Given the description of an element on the screen output the (x, y) to click on. 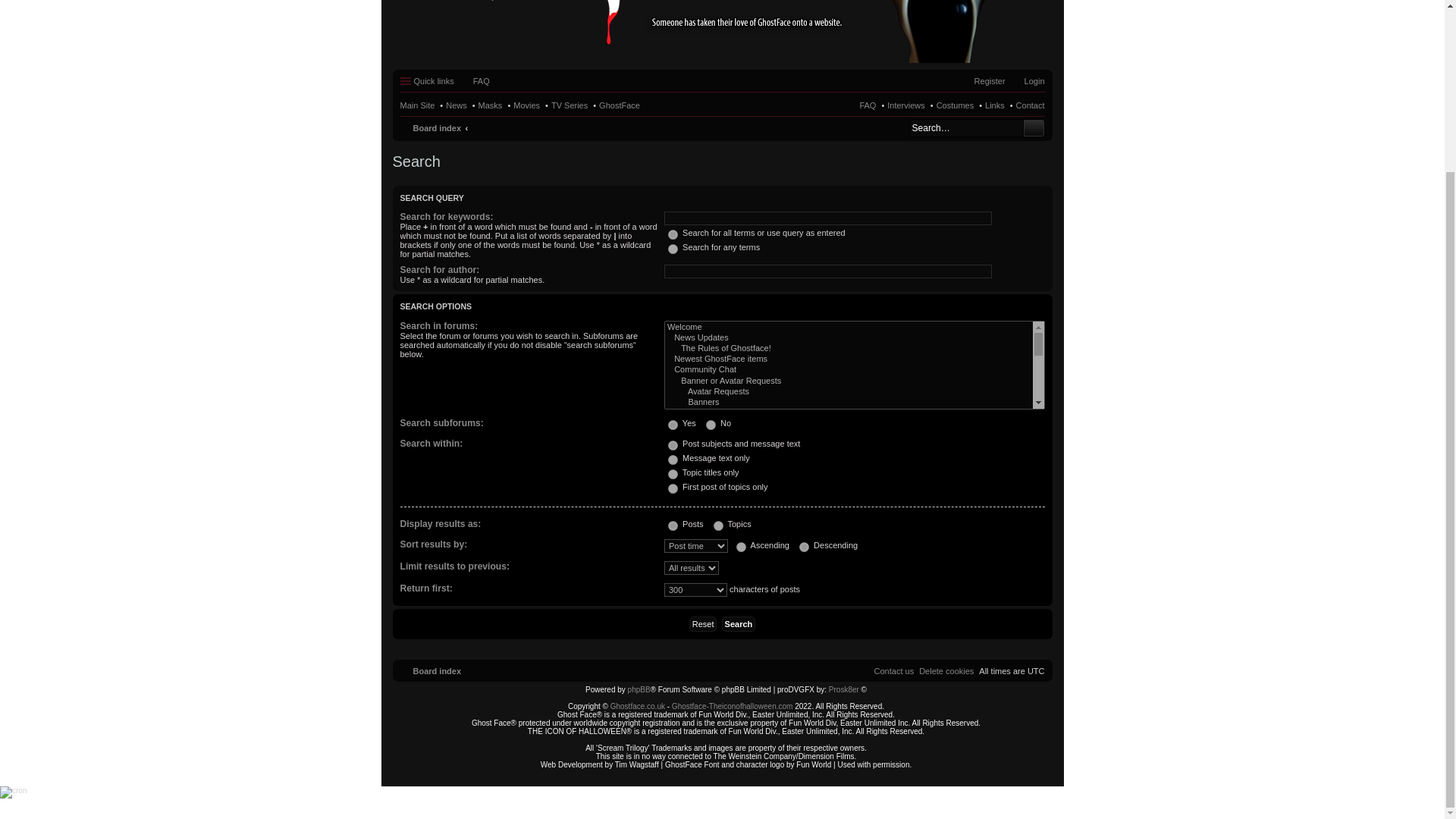
Search (1032, 127)
phpBB (638, 689)
Contact (1030, 104)
FAQ (867, 104)
Contact us (894, 670)
Reset (702, 623)
Board index (430, 127)
Board index (430, 670)
UTC (1036, 670)
Search for author (827, 271)
1 (673, 424)
Frequently Asked Questions (474, 81)
0 (711, 424)
titleonly (673, 474)
Ghostface-Theiconofhalloween.com (732, 705)
